Given the description of an element on the screen output the (x, y) to click on. 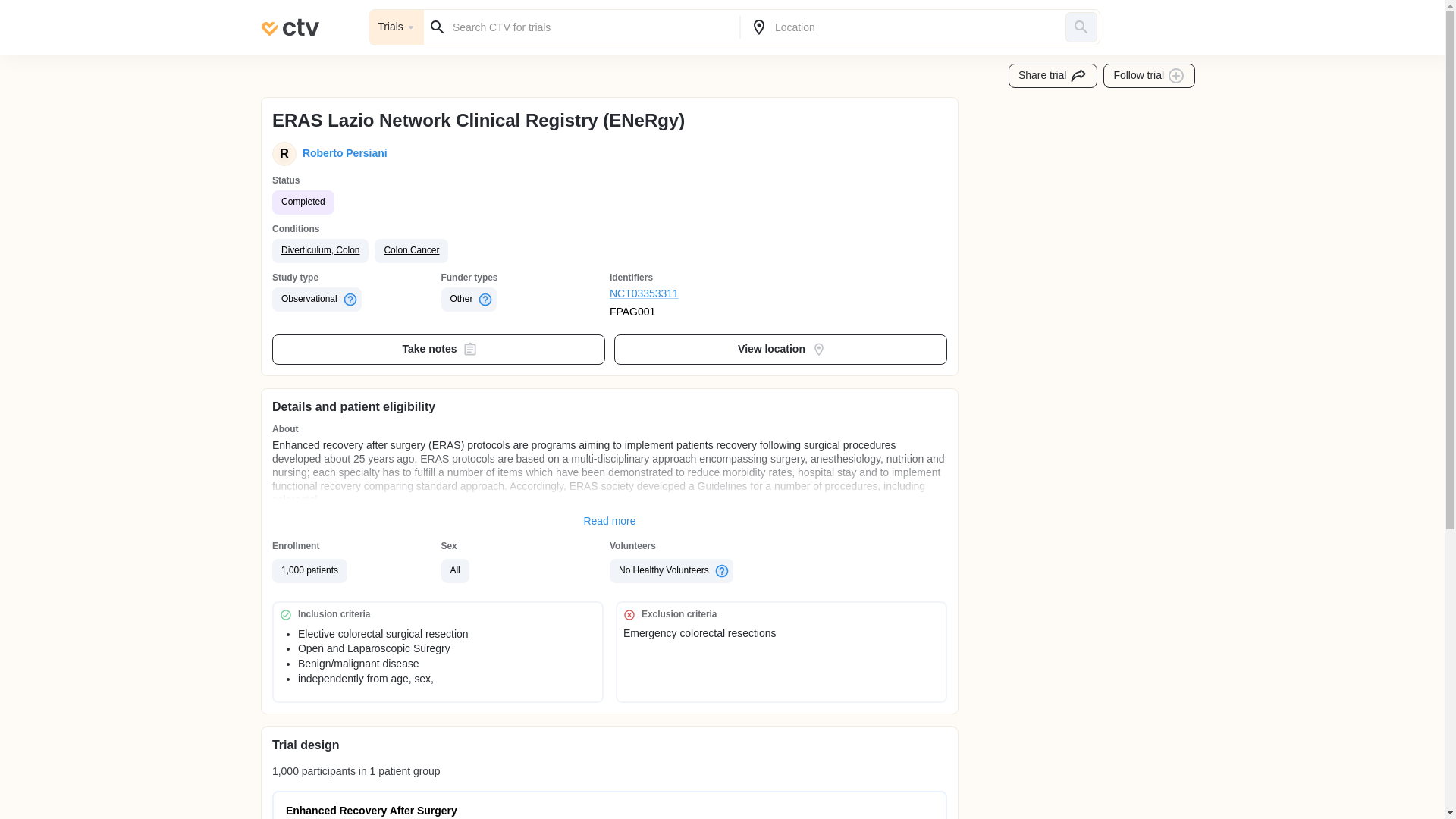
Follow trial (1149, 75)
Read more (609, 521)
View location (780, 349)
NCT03353311 (694, 294)
Trials (396, 27)
Share trial (1053, 75)
Take notes (438, 349)
Roberto Persiani (342, 153)
